Given the description of an element on the screen output the (x, y) to click on. 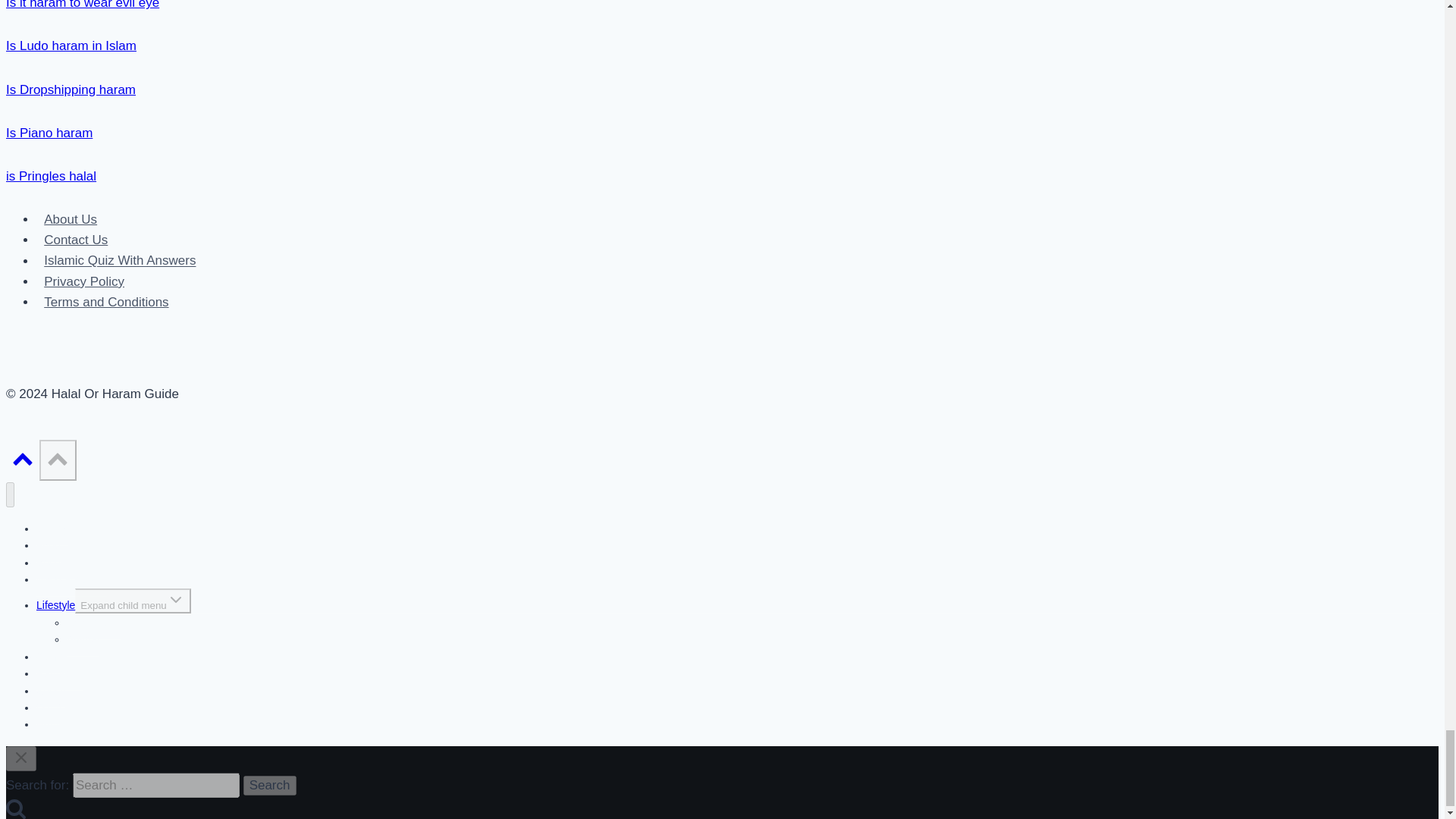
Scroll to top (22, 462)
Scroll to top (57, 459)
Search (270, 785)
Toggle Menu Close (20, 757)
Scroll to top (57, 457)
Expand (175, 599)
Search (270, 785)
Scroll to top (22, 457)
